Given the description of an element on the screen output the (x, y) to click on. 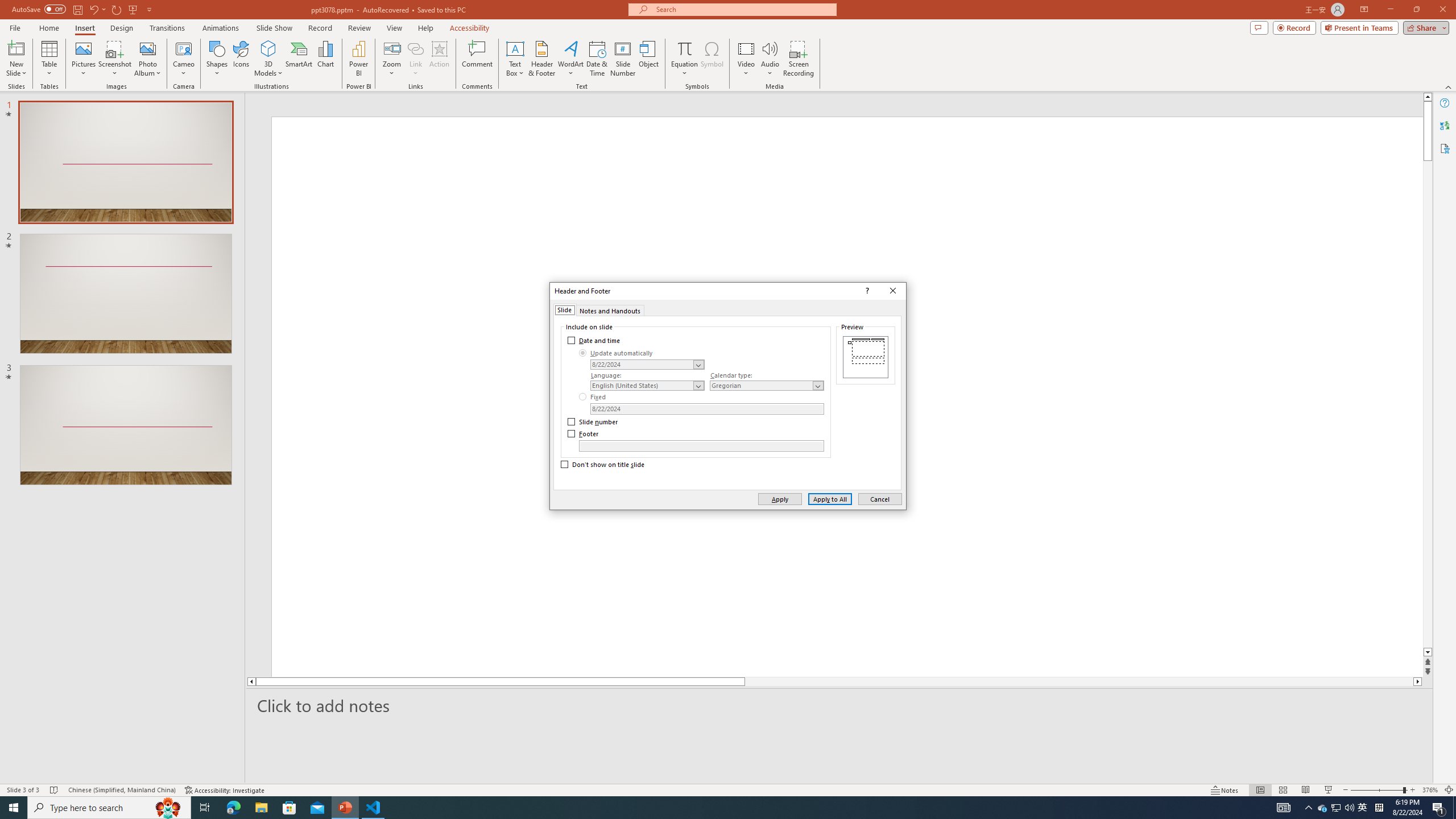
Zoom 376% (1430, 790)
Table (49, 58)
Fixed (593, 396)
Update automatically (616, 352)
